Given the description of an element on the screen output the (x, y) to click on. 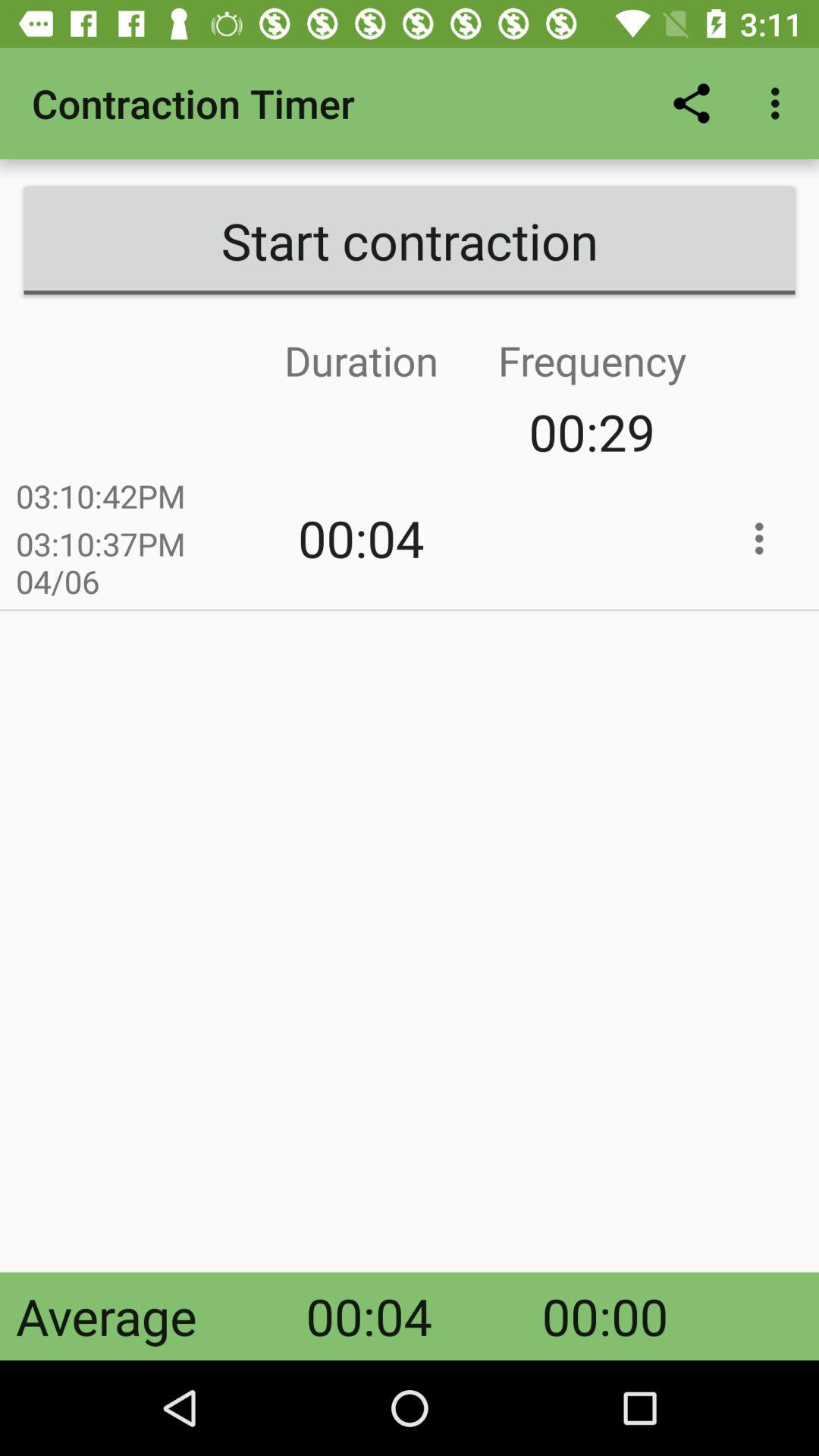
select the icon above the start contraction item (691, 103)
